Given the description of an element on the screen output the (x, y) to click on. 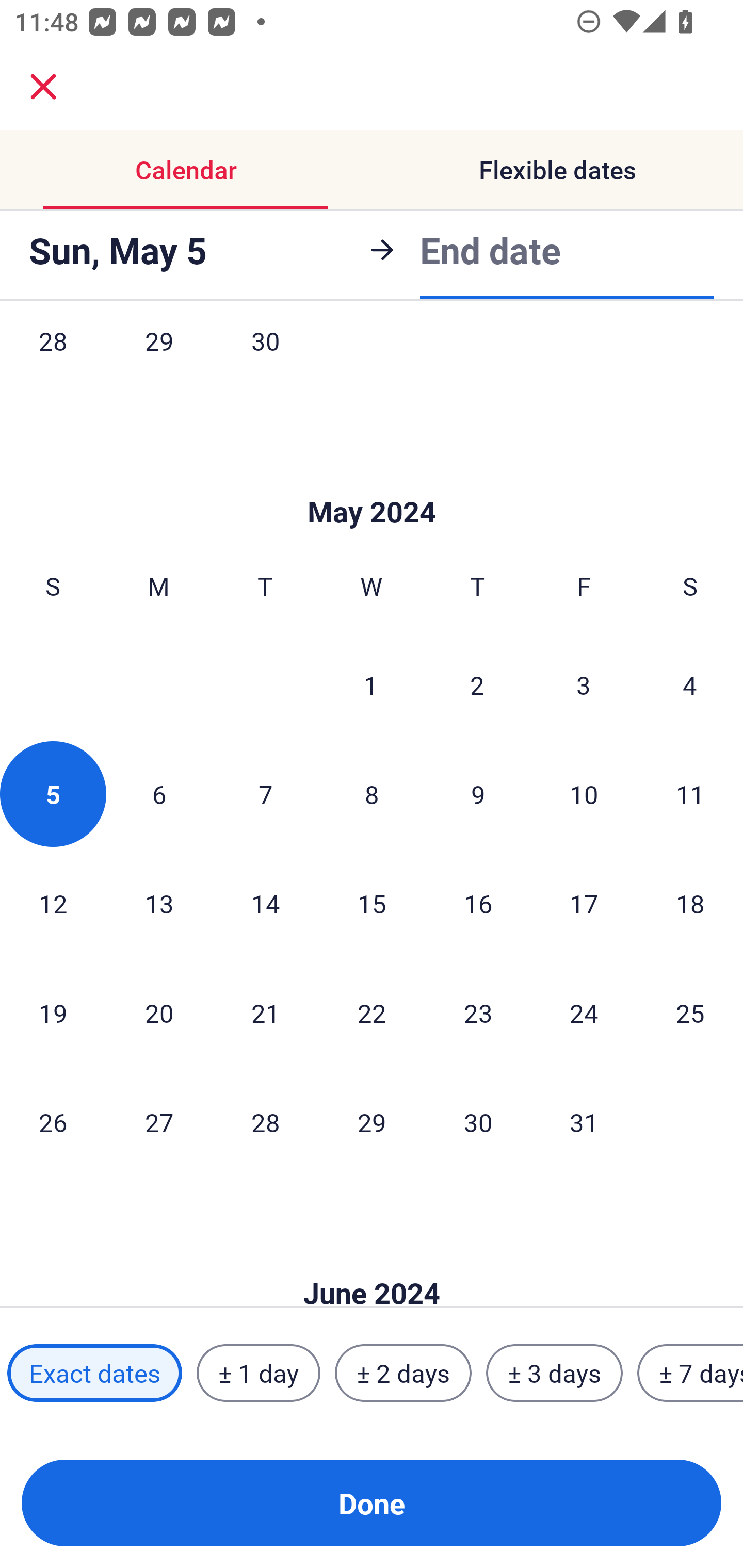
close. (43, 86)
Flexible dates (557, 170)
End date (489, 249)
28 Sunday, April 28, 2024 (53, 361)
29 Monday, April 29, 2024 (159, 361)
30 Tuesday, April 30, 2024 (265, 361)
Skip to Done (371, 481)
1 Wednesday, May 1, 2024 (371, 683)
2 Thursday, May 2, 2024 (477, 683)
3 Friday, May 3, 2024 (583, 683)
4 Saturday, May 4, 2024 (689, 683)
6 Monday, May 6, 2024 (159, 793)
7 Tuesday, May 7, 2024 (265, 793)
8 Wednesday, May 8, 2024 (371, 793)
9 Thursday, May 9, 2024 (477, 793)
10 Friday, May 10, 2024 (584, 793)
11 Saturday, May 11, 2024 (690, 793)
12 Sunday, May 12, 2024 (53, 902)
13 Monday, May 13, 2024 (159, 902)
14 Tuesday, May 14, 2024 (265, 902)
15 Wednesday, May 15, 2024 (371, 902)
16 Thursday, May 16, 2024 (477, 902)
17 Friday, May 17, 2024 (584, 902)
18 Saturday, May 18, 2024 (690, 902)
19 Sunday, May 19, 2024 (53, 1012)
20 Monday, May 20, 2024 (159, 1012)
21 Tuesday, May 21, 2024 (265, 1012)
22 Wednesday, May 22, 2024 (371, 1012)
23 Thursday, May 23, 2024 (477, 1012)
24 Friday, May 24, 2024 (584, 1012)
25 Saturday, May 25, 2024 (690, 1012)
26 Sunday, May 26, 2024 (53, 1121)
27 Monday, May 27, 2024 (159, 1121)
28 Tuesday, May 28, 2024 (265, 1121)
29 Wednesday, May 29, 2024 (371, 1121)
30 Thursday, May 30, 2024 (477, 1121)
31 Friday, May 31, 2024 (584, 1121)
Skip to Done (371, 1262)
Exact dates (94, 1372)
± 1 day (258, 1372)
± 2 days (403, 1372)
± 3 days (553, 1372)
± 7 days (690, 1372)
Done (371, 1502)
